Given the description of an element on the screen output the (x, y) to click on. 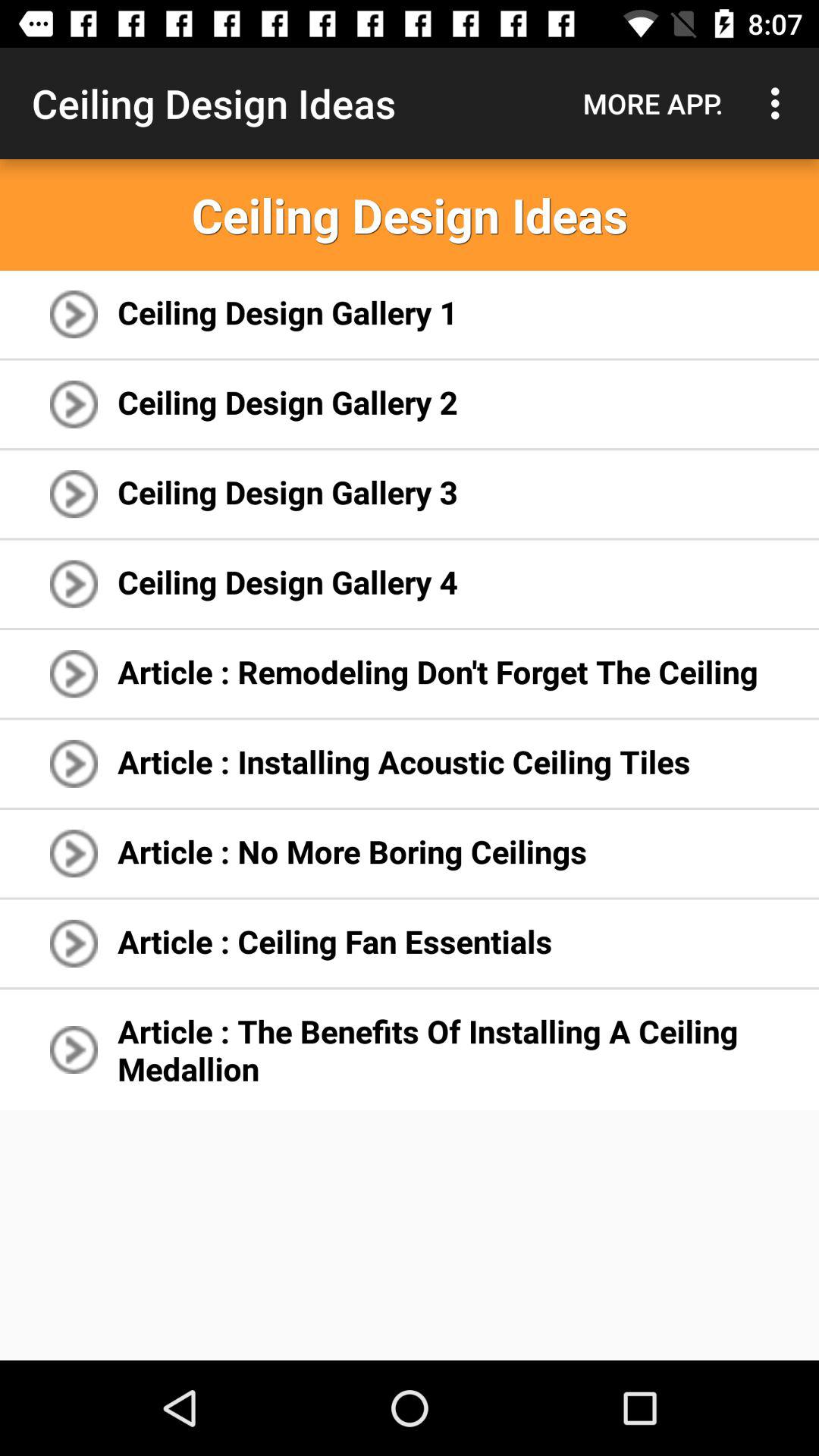
select the item next to more app. (779, 103)
